Given the description of an element on the screen output the (x, y) to click on. 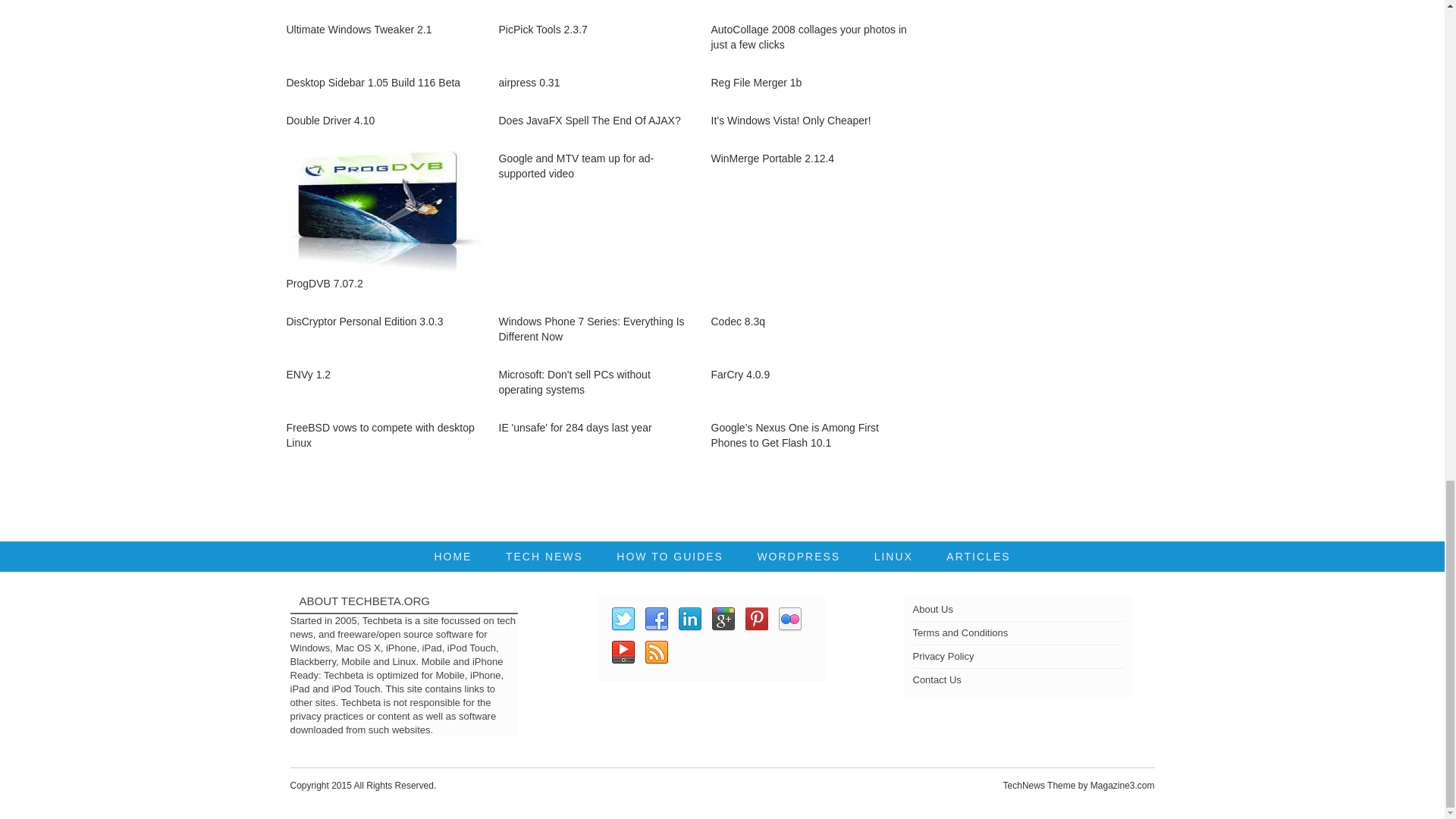
Twitter (621, 619)
LinkedIn (688, 619)
Facebook (654, 619)
Google Plus (721, 619)
